Given the description of an element on the screen output the (x, y) to click on. 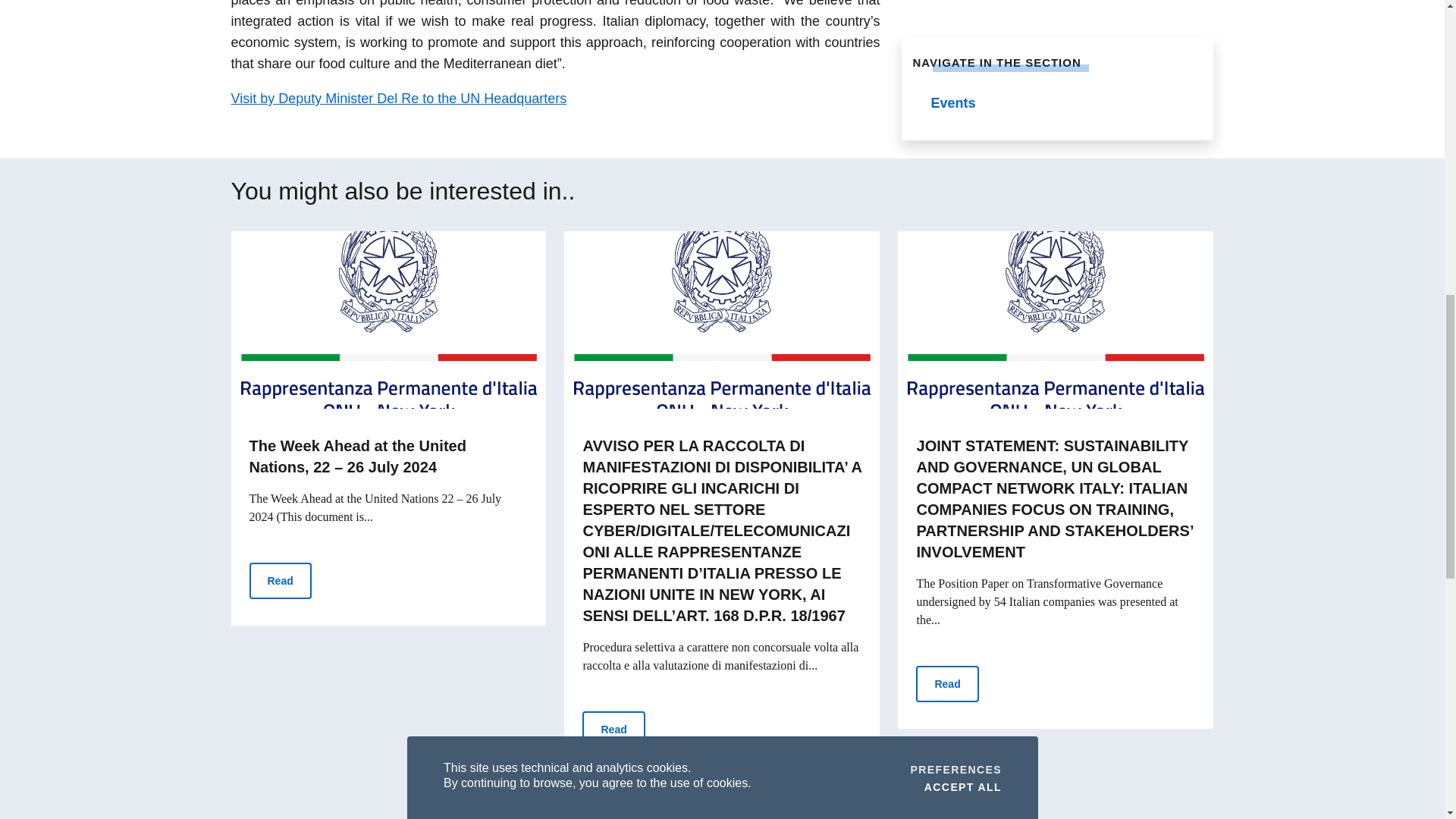
maeci-rappresentanza-permanente-italia-v-it (721, 319)
maeci-rappresentanza-permanente-italia-v-it (388, 319)
maeci-rappresentanza-permanente-italia-v-it (1055, 319)
Visit by Deputy Minister Del Re to the UN Headquarters (398, 98)
